Given the description of an element on the screen output the (x, y) to click on. 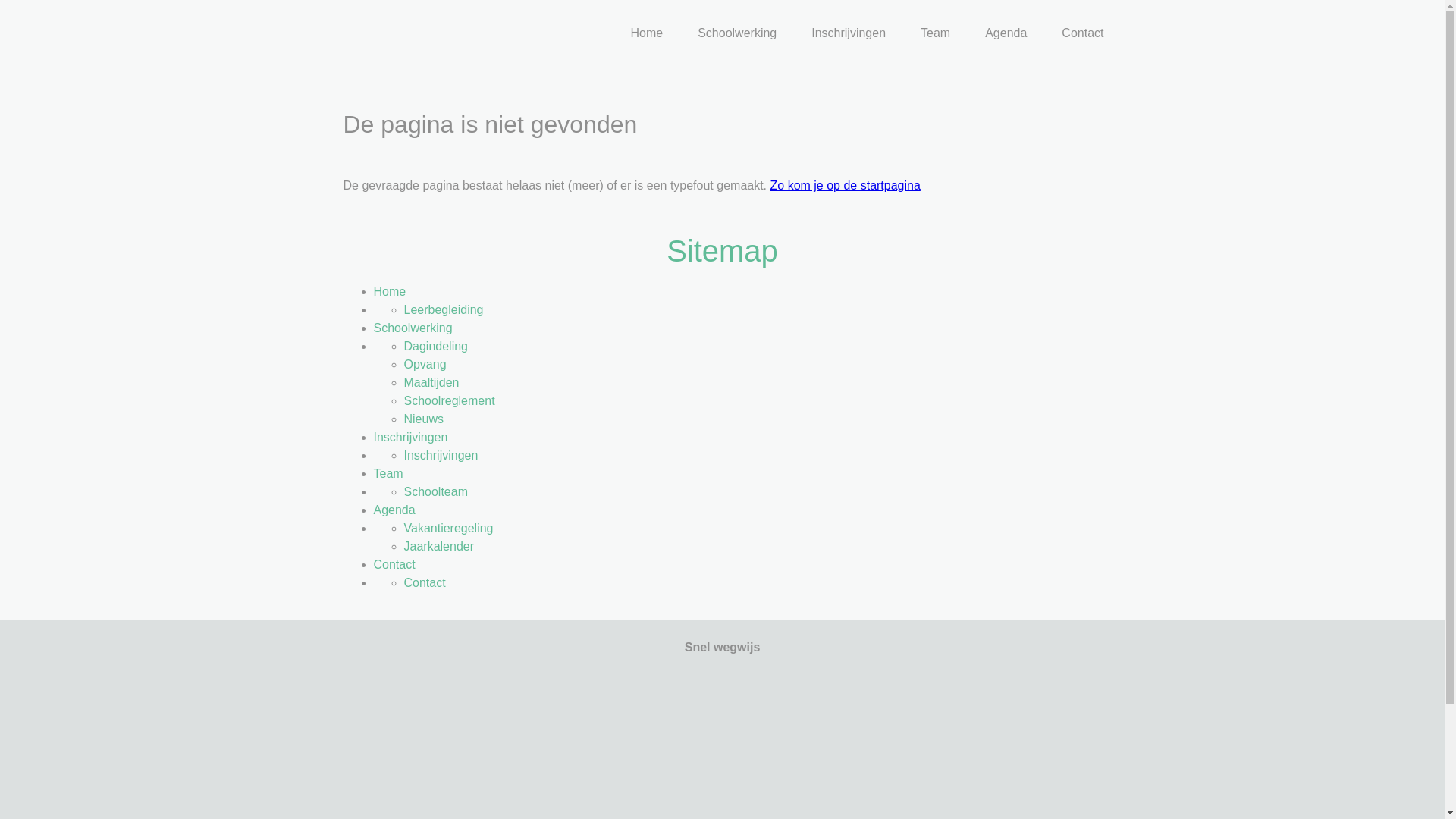
Leerbegleiding Element type: text (443, 309)
Team Element type: text (387, 473)
Contact Element type: text (393, 564)
Inschrijvingen Element type: text (440, 454)
Dagindeling Element type: text (435, 345)
Vakantieregeling Element type: text (447, 527)
Inschrijvingen Element type: text (848, 34)
Maaltijden Element type: text (430, 382)
Opvang Element type: text (424, 363)
Nieuws Element type: text (422, 418)
Schoolteam Element type: text (435, 491)
Jaarkalender Element type: text (438, 545)
Inschrijvingen Element type: text (410, 436)
Home Element type: text (389, 291)
Schoolwerking Element type: text (412, 327)
Home Element type: text (646, 34)
Agenda Element type: text (1005, 34)
Contact Element type: text (1082, 34)
Schoolreglement Element type: text (448, 400)
Contact Element type: text (424, 582)
Team Element type: text (934, 34)
Schoolwerking Element type: text (737, 34)
Zo kom je op de startpagina Element type: text (845, 184)
Agenda Element type: text (393, 509)
